Given the description of an element on the screen output the (x, y) to click on. 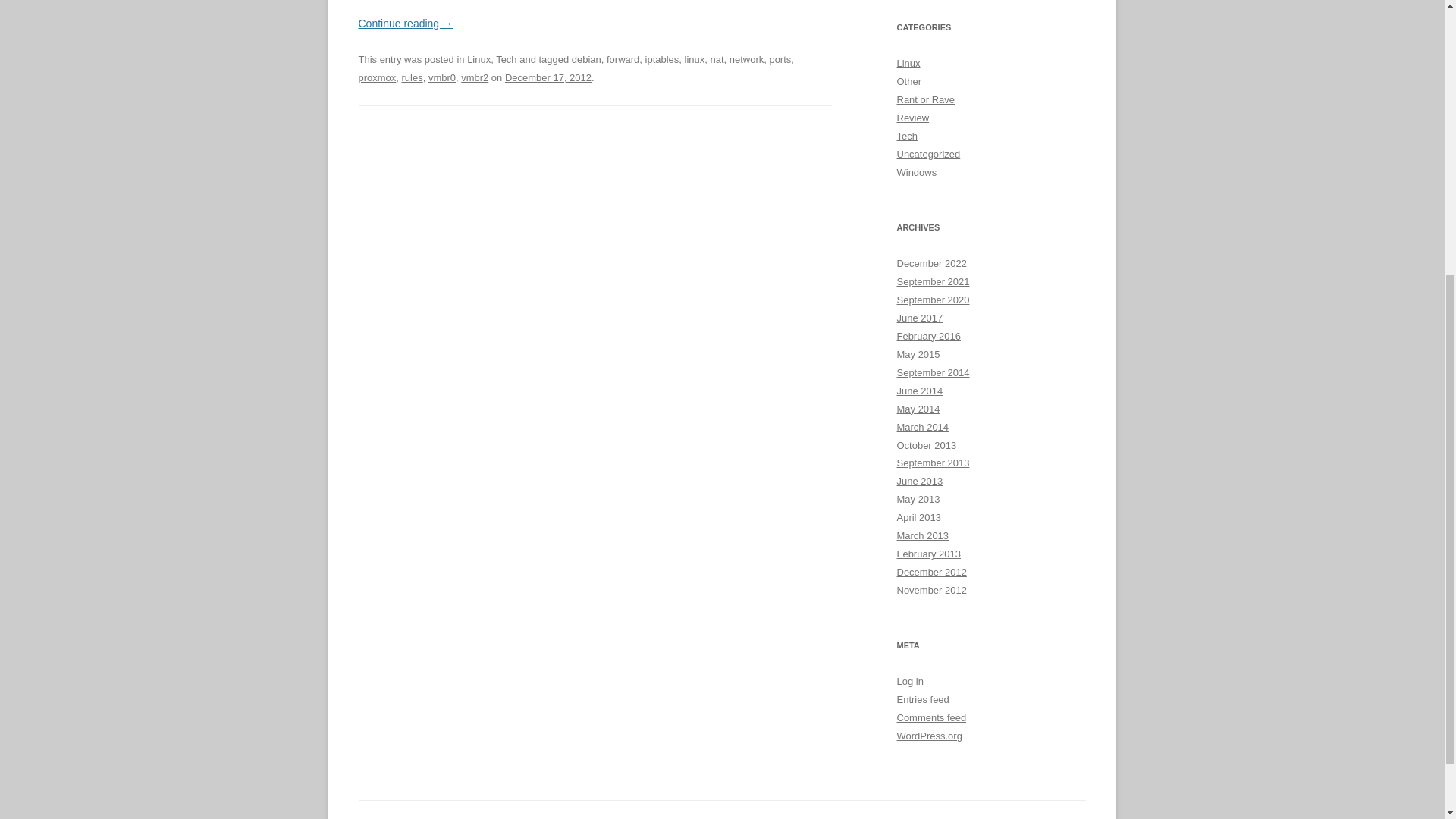
nat (716, 59)
December 2022 (931, 263)
Review (912, 117)
proxmox (377, 77)
debian (586, 59)
Linux (478, 59)
vmbr0 (441, 77)
ports (779, 59)
iptables (662, 59)
vmbr2 (474, 77)
linux (694, 59)
Other (908, 81)
rules (412, 77)
Windows (916, 172)
Linux (908, 62)
